Given the description of an element on the screen output the (x, y) to click on. 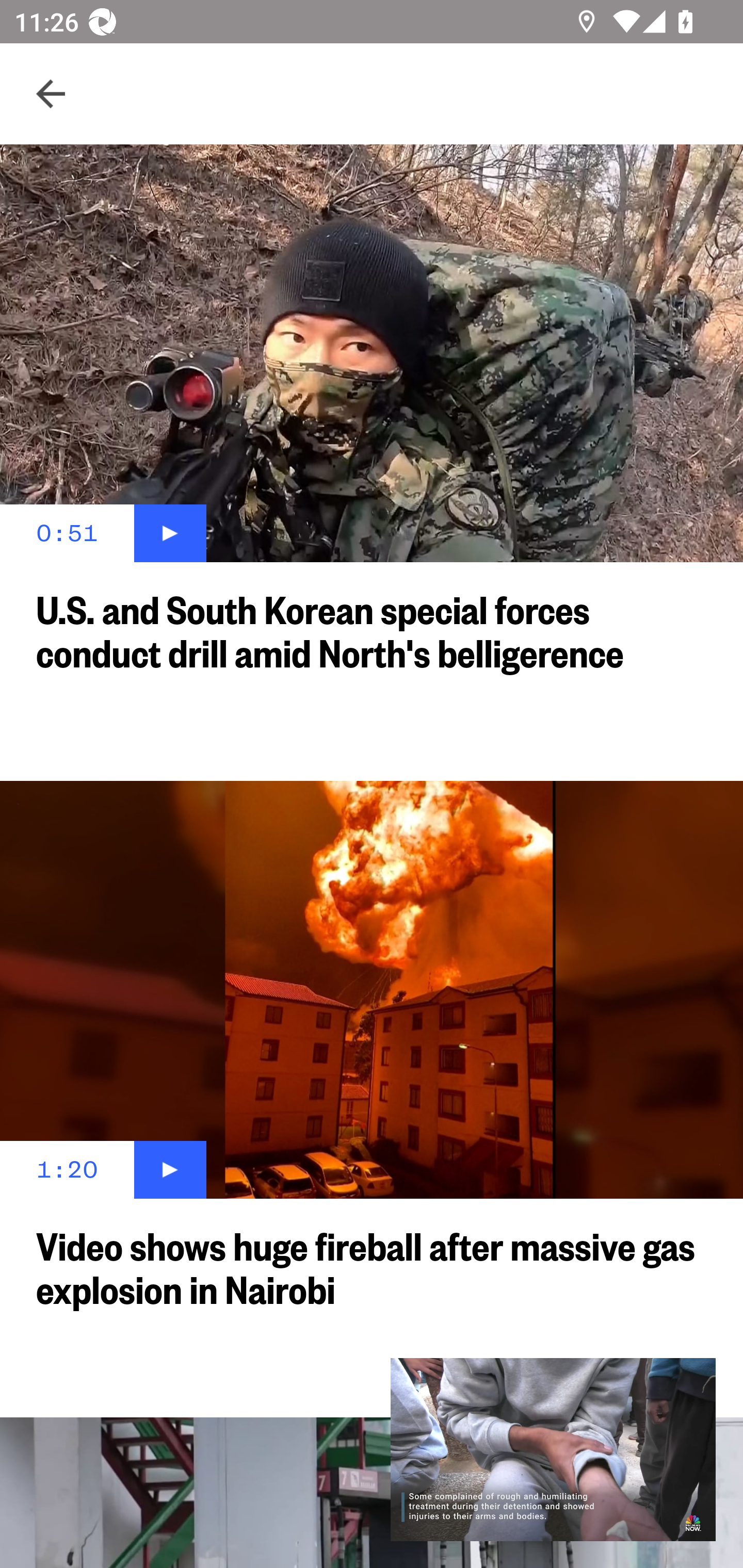
Navigate up (50, 93)
